Given the description of an element on the screen output the (x, y) to click on. 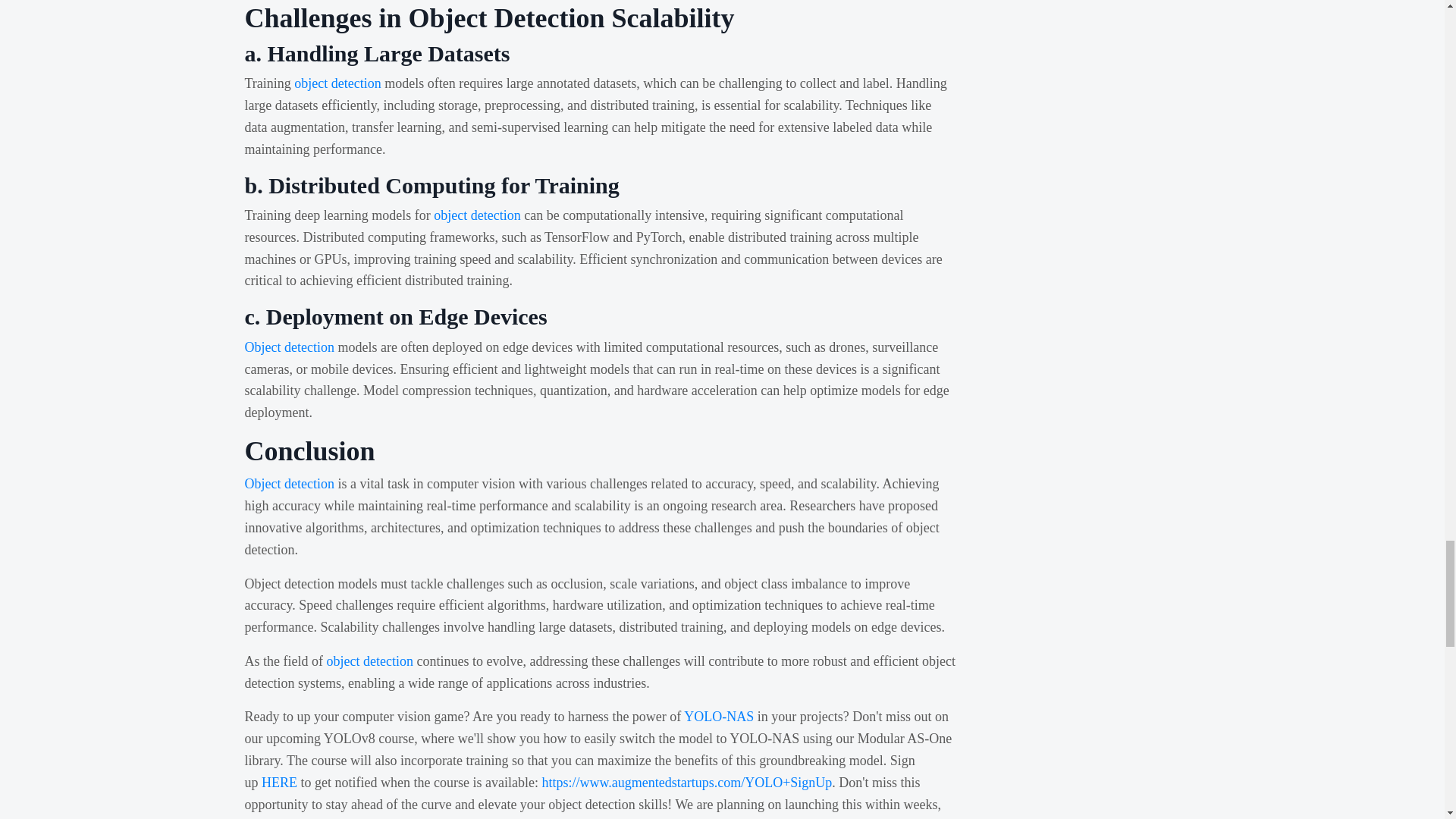
Object detection (288, 483)
object detection (476, 215)
object detection (369, 661)
object detection (337, 83)
YOLO-NAS (719, 716)
HERE (279, 782)
Object detection (288, 346)
